Given the description of an element on the screen output the (x, y) to click on. 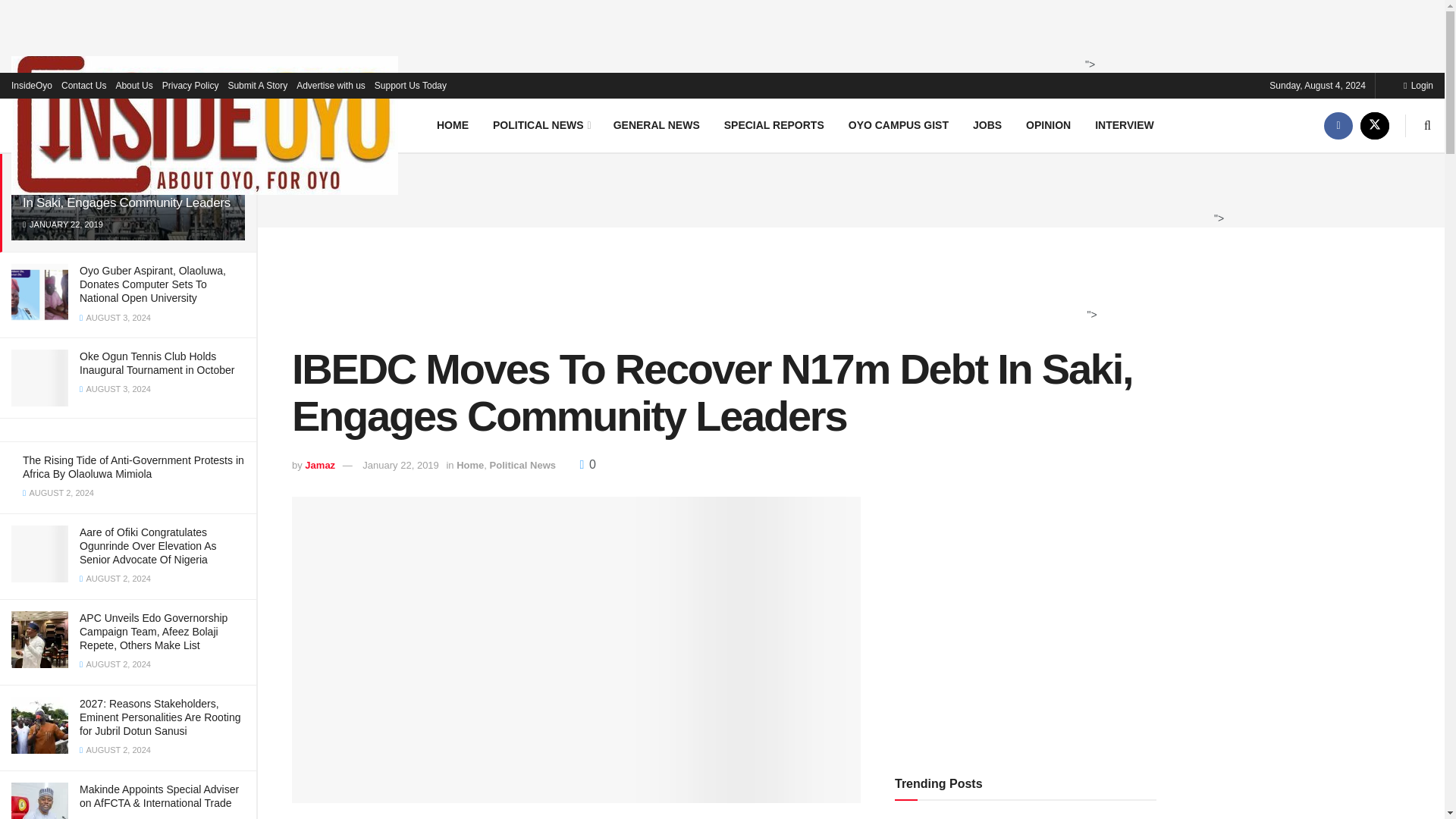
Support Us Today (410, 85)
Submit A Story (256, 85)
Oke Ogun Tennis Club Holds Inaugural Tournament in October (157, 362)
POLITICAL NEWS (540, 125)
Login (1417, 85)
HOME (452, 125)
Privacy Policy (190, 85)
Advertise with us (331, 85)
Contact Us (83, 85)
InsideOyo (31, 85)
